Given the description of an element on the screen output the (x, y) to click on. 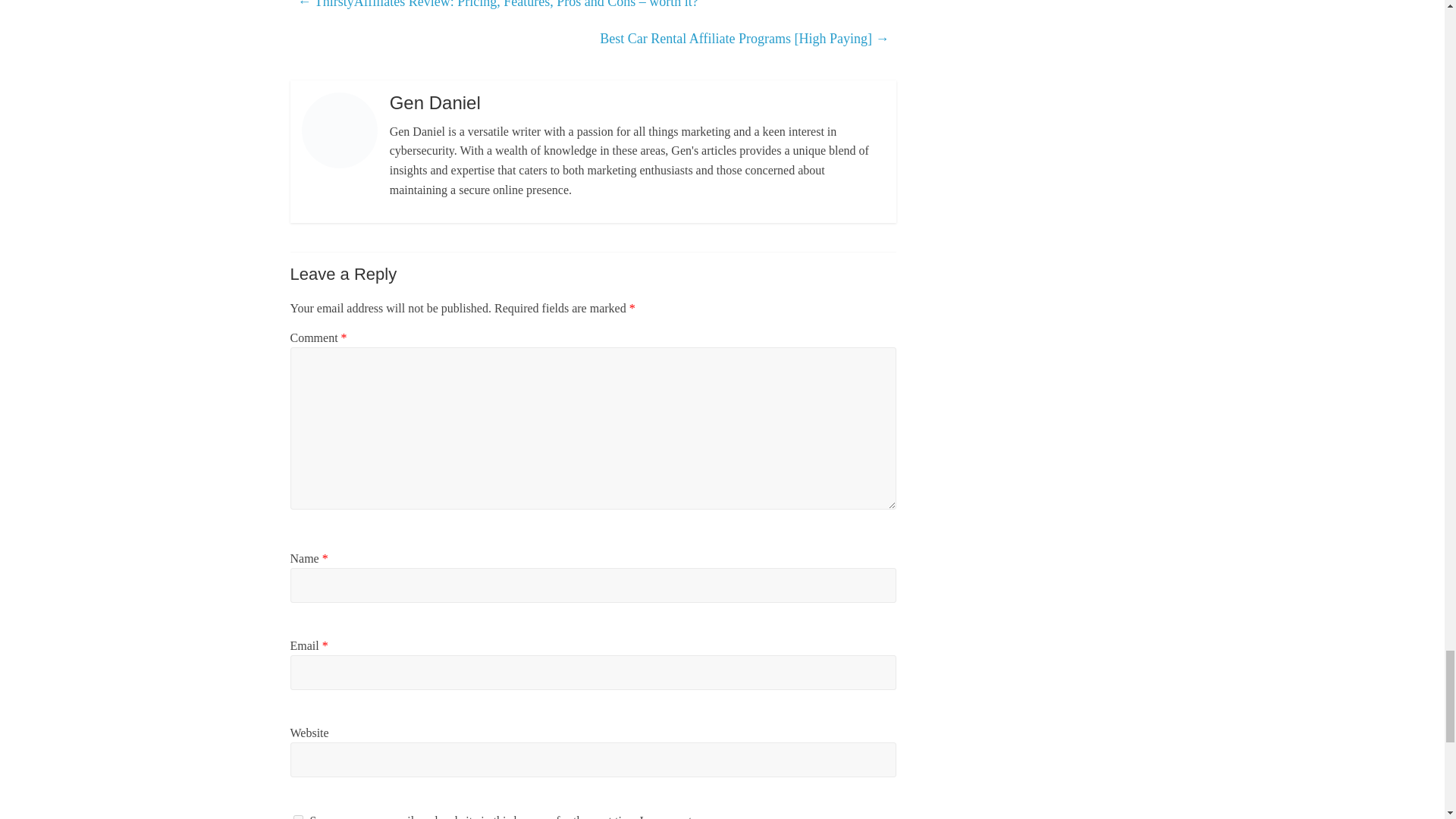
yes (297, 816)
